Given the description of an element on the screen output the (x, y) to click on. 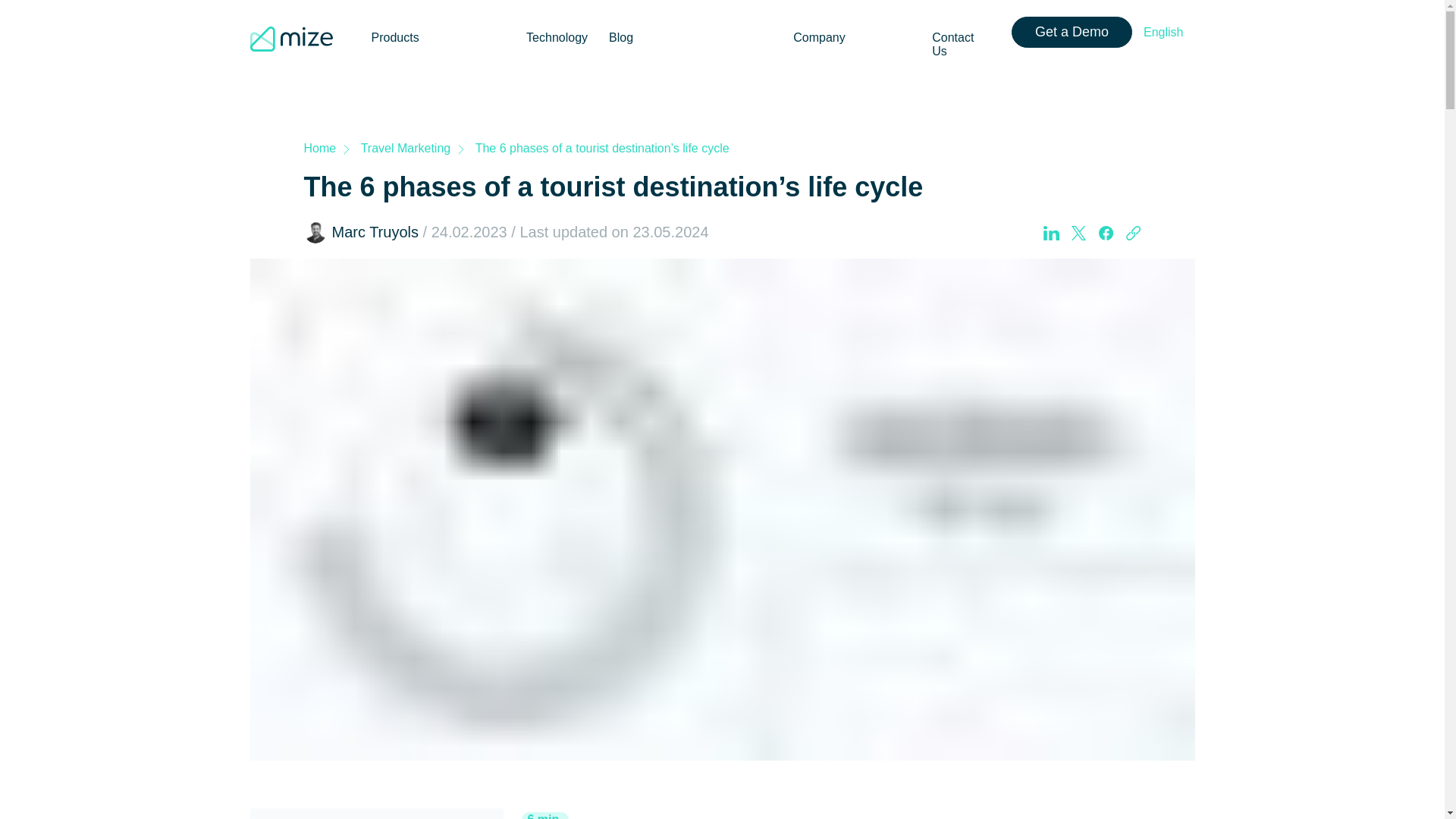
About Us (818, 86)
Contact Us (961, 35)
Company (819, 28)
Business Optimization (431, 86)
Products (395, 28)
Technology (556, 28)
